Given the description of an element on the screen output the (x, y) to click on. 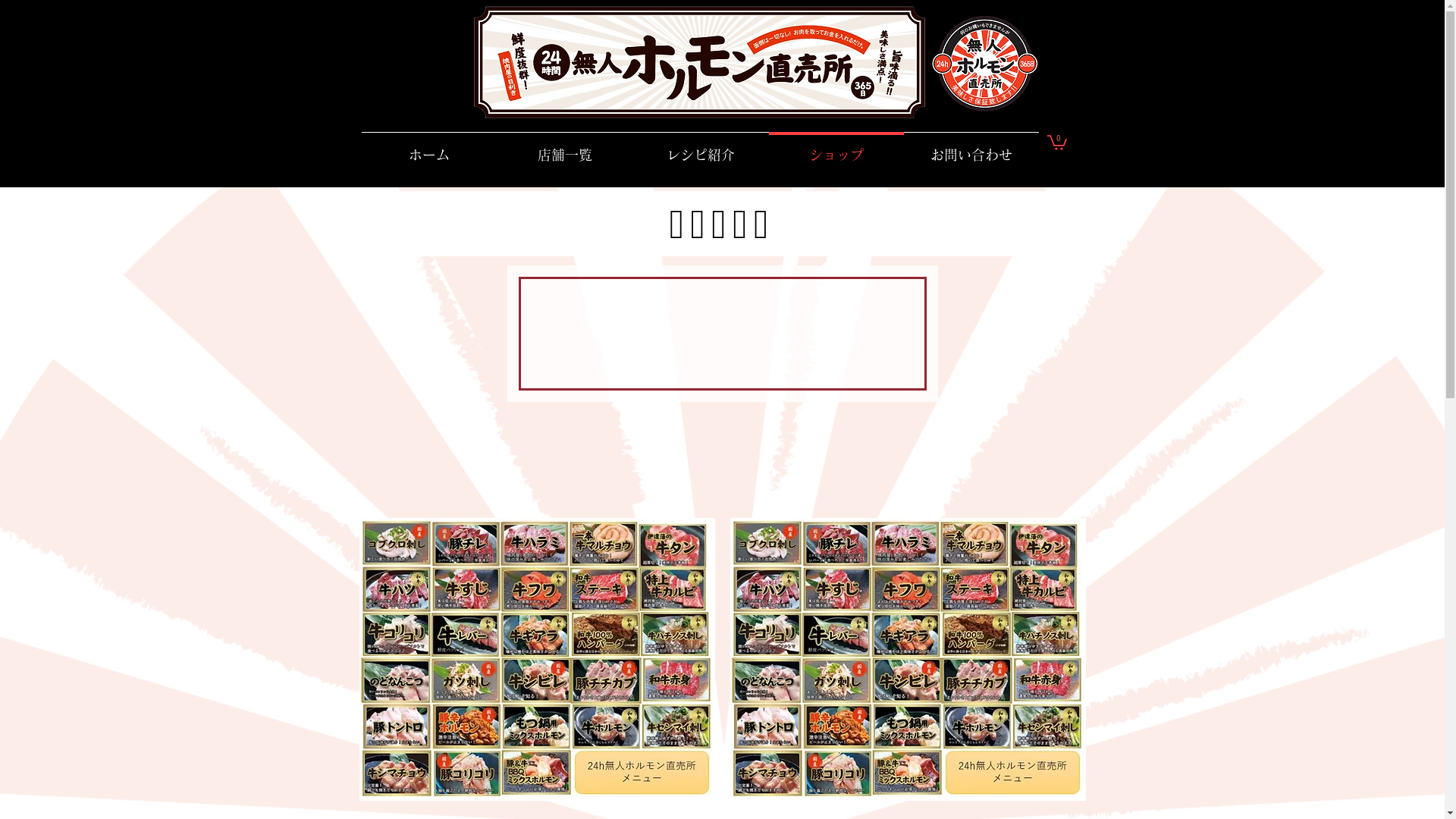
0 Element type: text (1056, 141)
